Given the description of an element on the screen output the (x, y) to click on. 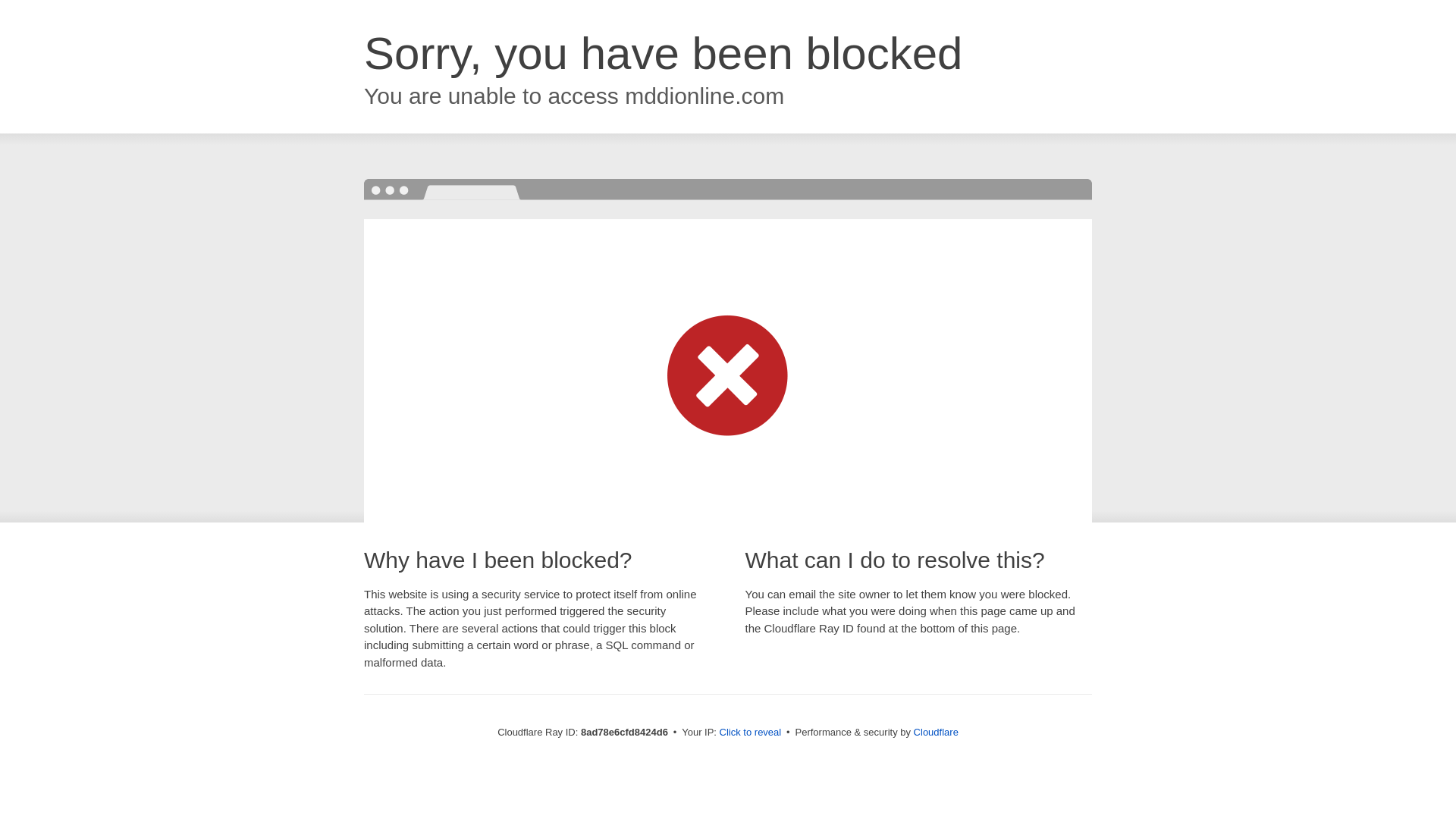
Click to reveal (750, 732)
Cloudflare (936, 731)
